Given the description of an element on the screen output the (x, y) to click on. 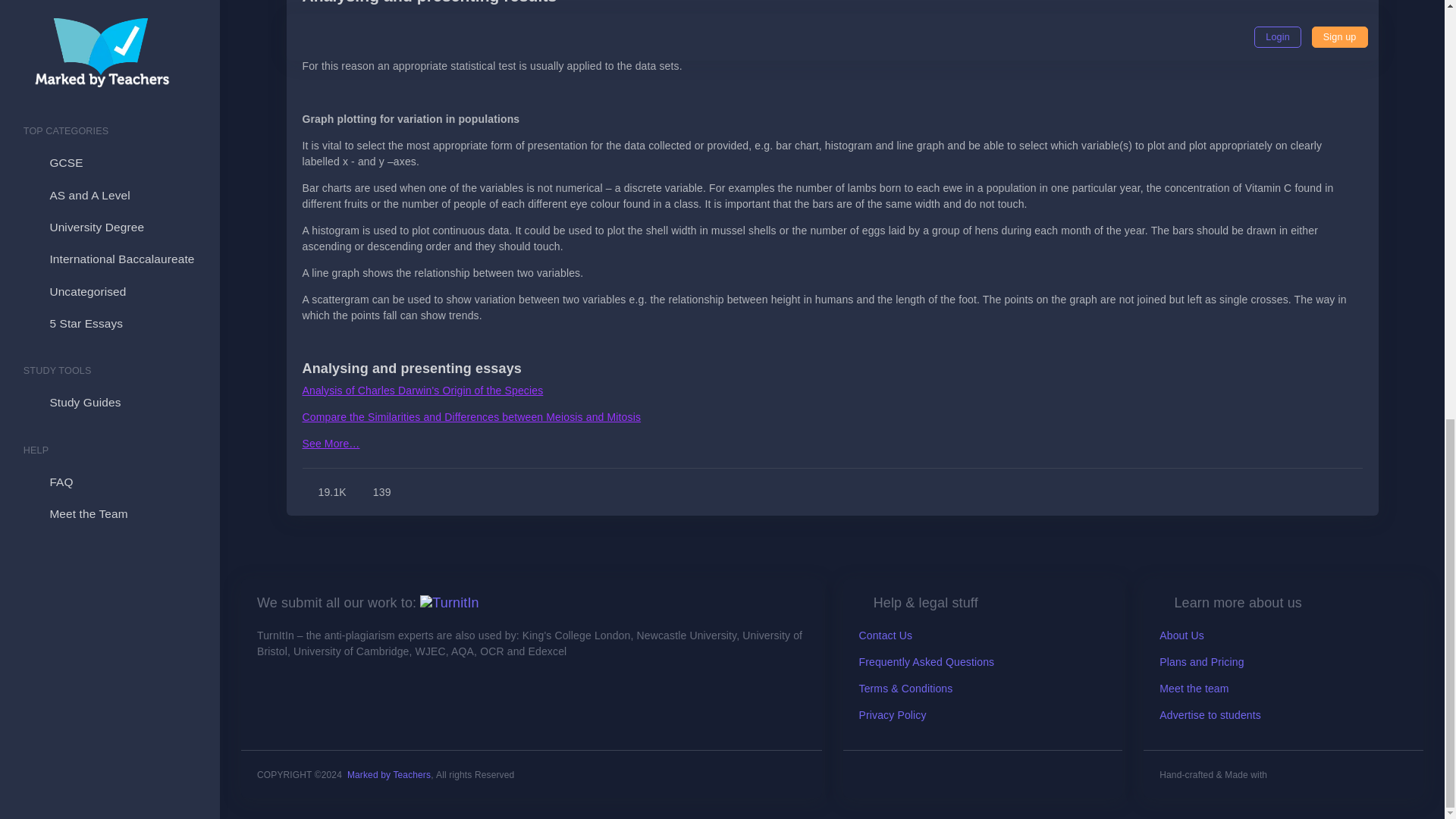
About Us (1181, 635)
Privacy Policy (892, 715)
Marked by Teachers (388, 774)
Contact Us (885, 635)
Frequently Asked Questions (926, 662)
Contact Us (885, 635)
Marked byTeachers About Us (449, 602)
Marked by Teachers (388, 774)
Analysis of Charles Darwin's Origin of the Species (422, 389)
